Given the description of an element on the screen output the (x, y) to click on. 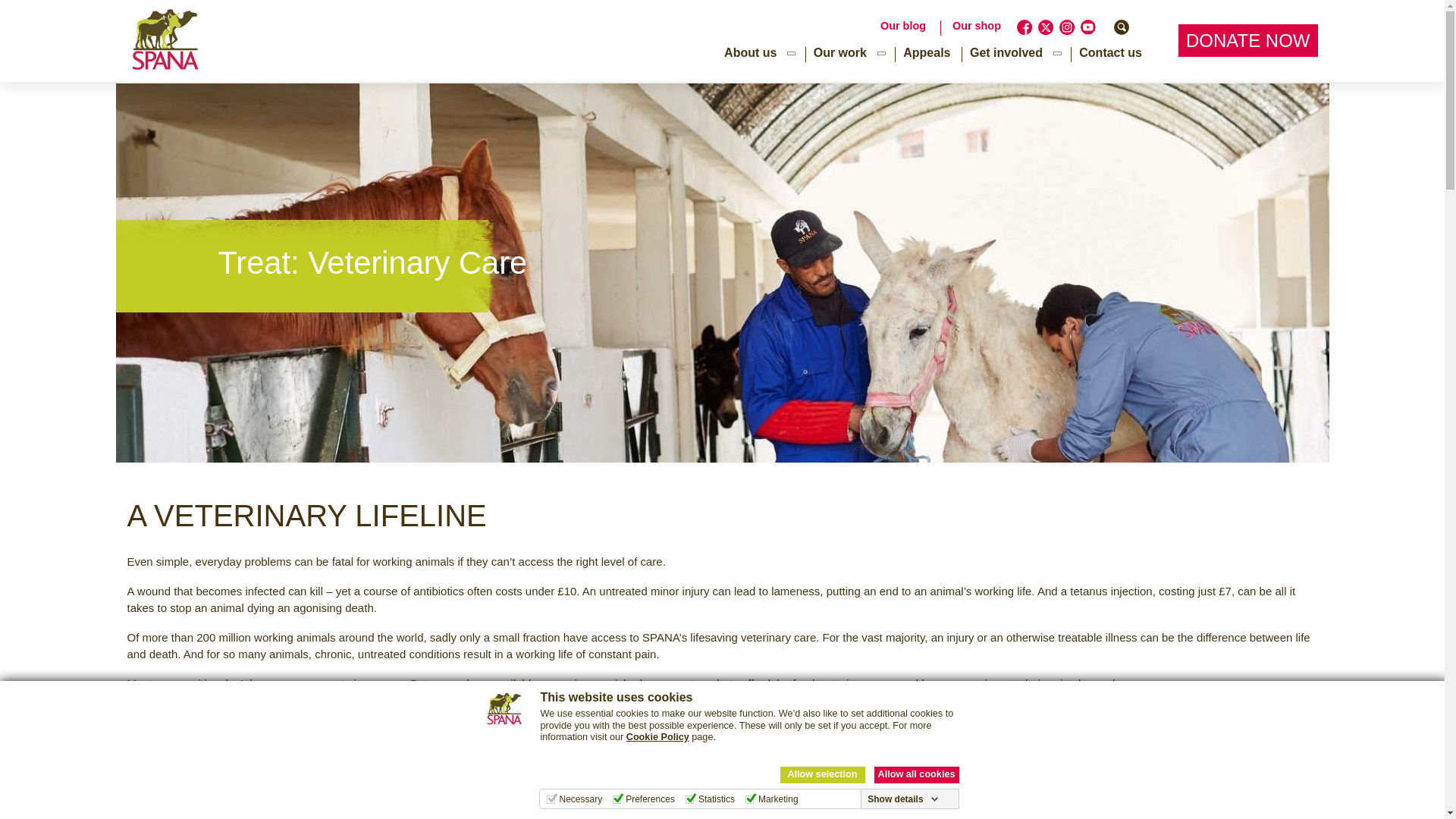
Cookie Policy (657, 737)
Allow selection (821, 774)
Allow all cookies (915, 774)
Show details (902, 799)
